Given the description of an element on the screen output the (x, y) to click on. 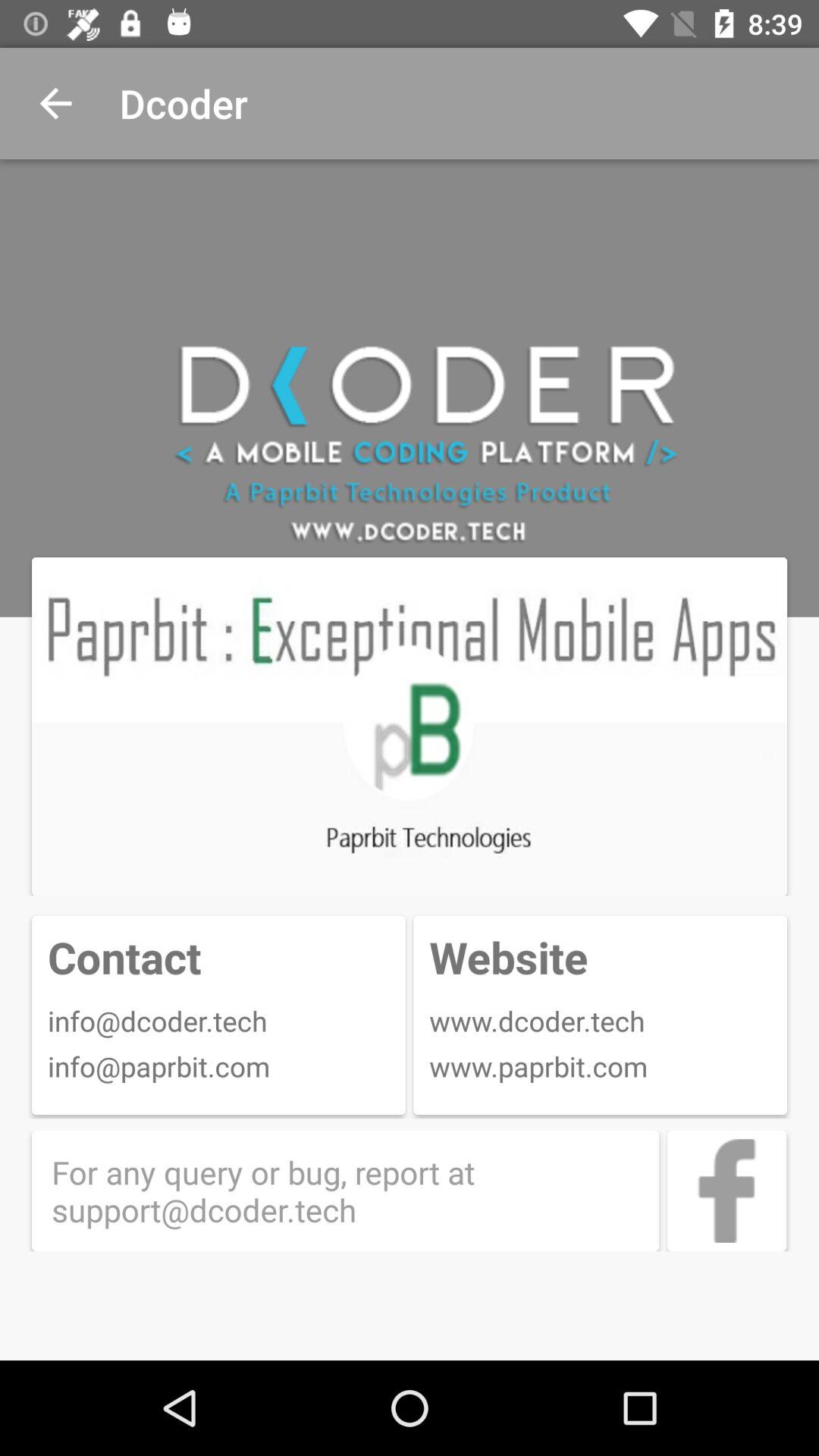
turn off the item to the left of the dcoder app (55, 103)
